Given the description of an element on the screen output the (x, y) to click on. 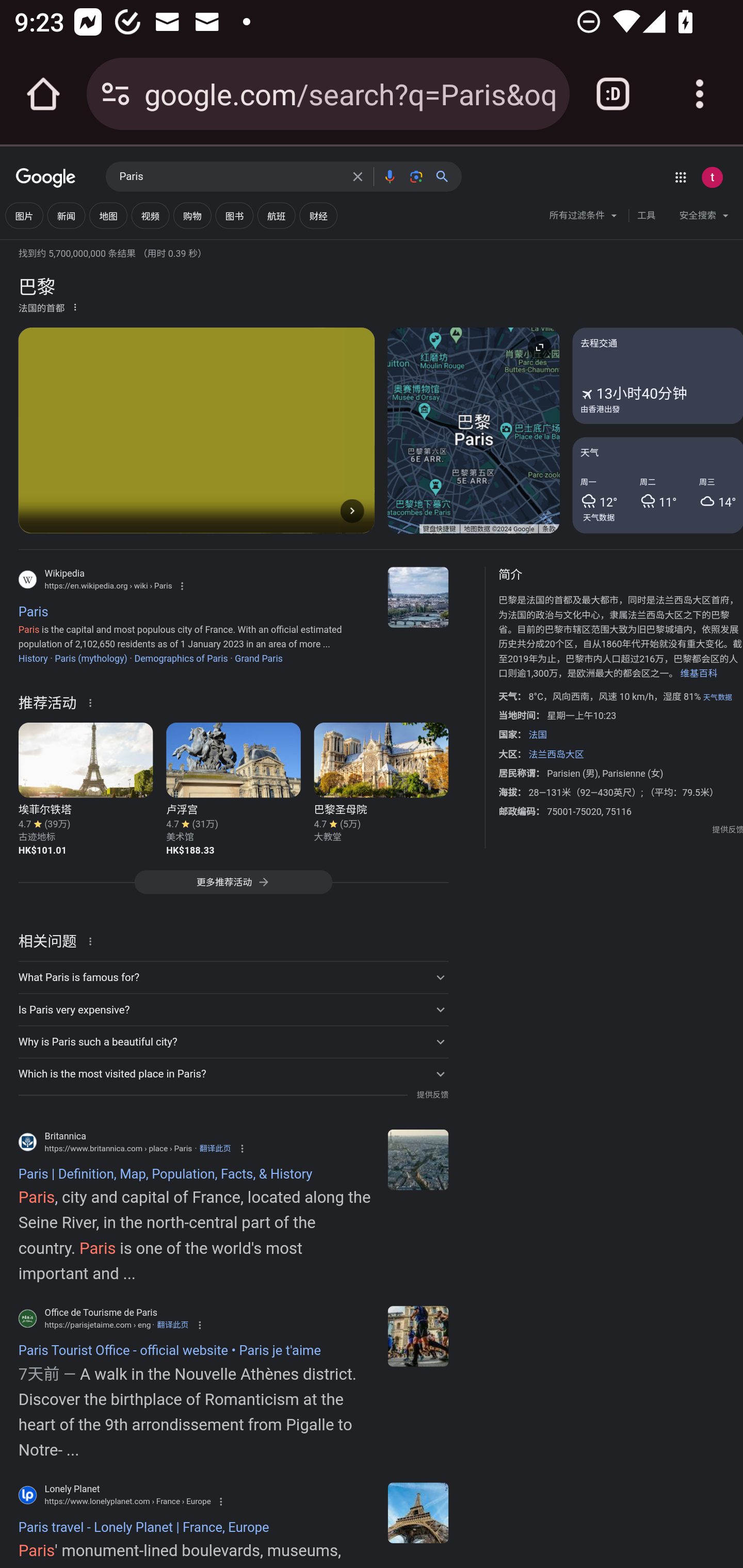
Open the home page (43, 93)
Connection is secure (115, 93)
Switch or close tabs (612, 93)
Customize and control Google Chrome (699, 93)
清除 (357, 176)
按语音搜索 (389, 176)
按图搜索 (415, 176)
搜索 (446, 176)
Google 应用 (680, 176)
Google 账号： test appium (testappium002@gmail.com) (712, 176)
Google (45, 178)
Paris (229, 177)
图片 (24, 215)
新闻 (65, 215)
地图 (107, 215)
视频 (149, 215)
购物 (191, 215)
图书 (234, 215)
航班 (276, 215)
财经 (318, 215)
所有过滤条件 (583, 217)
工具 (646, 215)
安全搜索 (703, 217)
更多选项 (74, 306)
去程交通 13小时40分钟 乘坐飞机 由香港出發 (657, 375)
展开地图 (539, 346)
天气 周一 高温 12 度 周二 高温 11 度 周三 高温 14 度 (657, 484)
下一张图片 (352, 510)
天气数据 (599, 516)
Paris (417, 597)
History (32, 658)
Paris (mythology) (90, 658)
Demographics of Paris (180, 658)
Grand Paris (258, 658)
维基百科 (697, 672)
天气数据 (717, 697)
关于这条结果的详细信息 (93, 701)
法国 (537, 734)
法兰西岛大区 (555, 753)
提供反馈 (727, 829)
更多推荐活动 (232, 887)
关于这条结果的详细信息 (93, 939)
What Paris is famous for? (232, 977)
Is Paris very expensive? (232, 1009)
Why is Paris such a beautiful city? (232, 1041)
Which is the most visited place in Paris? (232, 1072)
提供反馈 (432, 1094)
Paris (417, 1159)
翻译此页 (215, 1148)
eng (417, 1336)
翻译此页 (172, 1324)
paris (417, 1511)
